Given the description of an element on the screen output the (x, y) to click on. 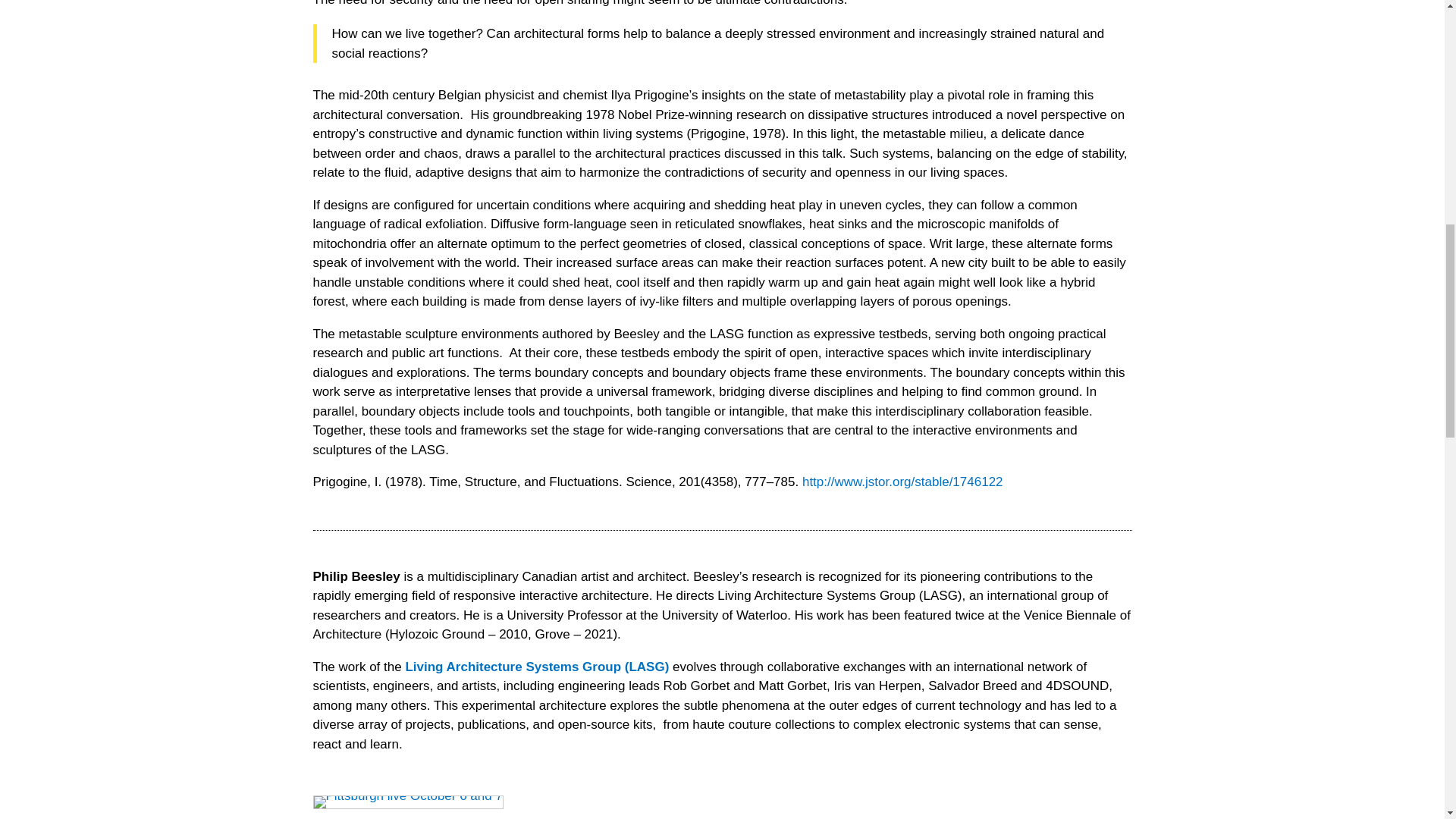
RSD12-pittsburgh-6-8 (407, 802)
